Given the description of an element on the screen output the (x, y) to click on. 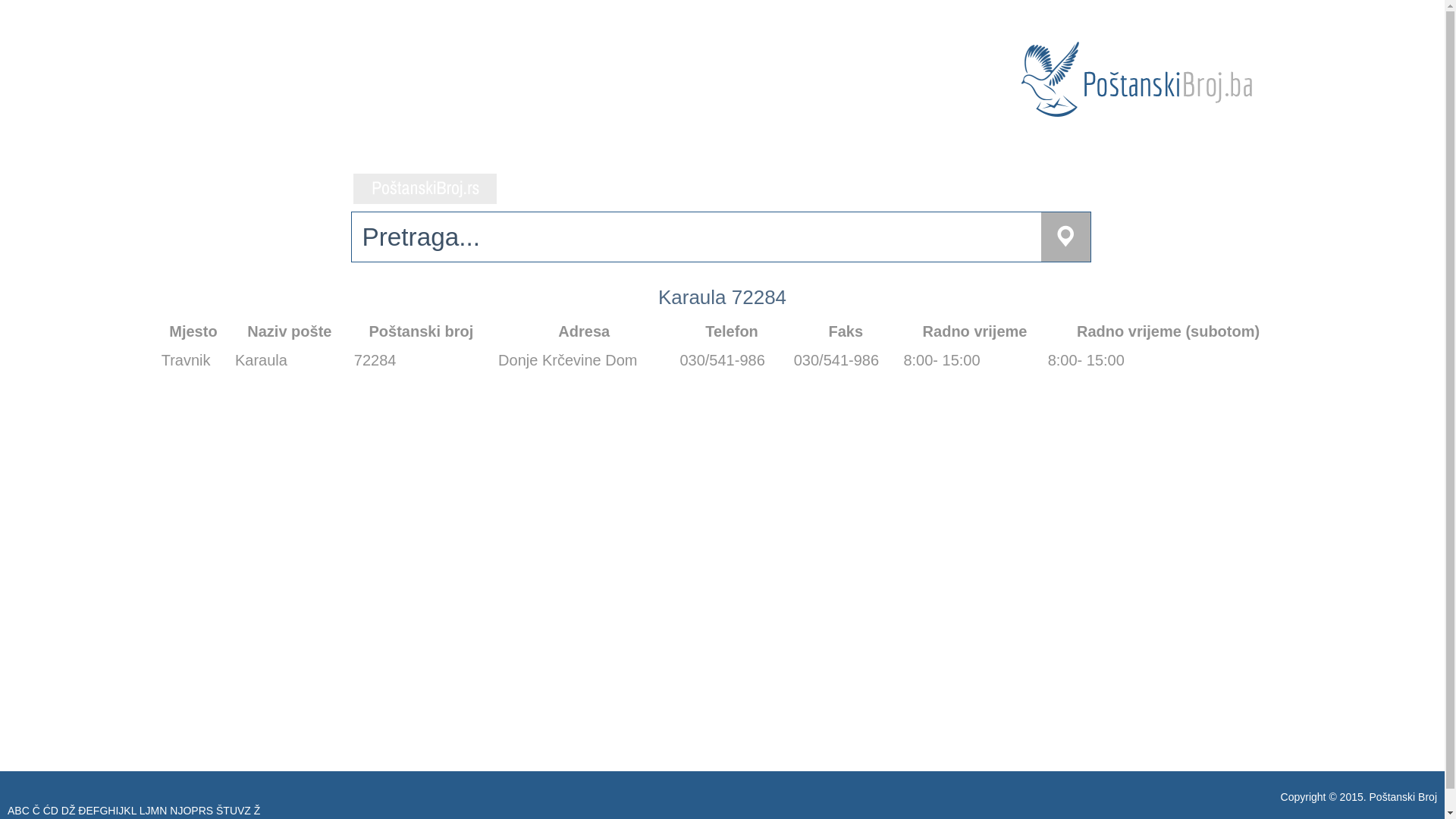
N NJ Element type: text (170, 810)
T Element type: text (225, 810)
R Element type: text (202, 810)
L LJ Element type: text (140, 810)
O Element type: text (186, 810)
H Element type: text (111, 810)
U Element type: text (233, 810)
I Element type: text (116, 810)
A Element type: text (10, 810)
J Element type: text (120, 810)
M Element type: text (155, 810)
P Element type: text (194, 810)
G Element type: text (103, 810)
V Element type: text (240, 810)
K Element type: text (126, 810)
F Element type: text (96, 810)
E Element type: text (88, 810)
Advertisement Element type: hover (611, 520)
  Element type: text (424, 188)
B Element type: text (17, 810)
